Given the description of an element on the screen output the (x, y) to click on. 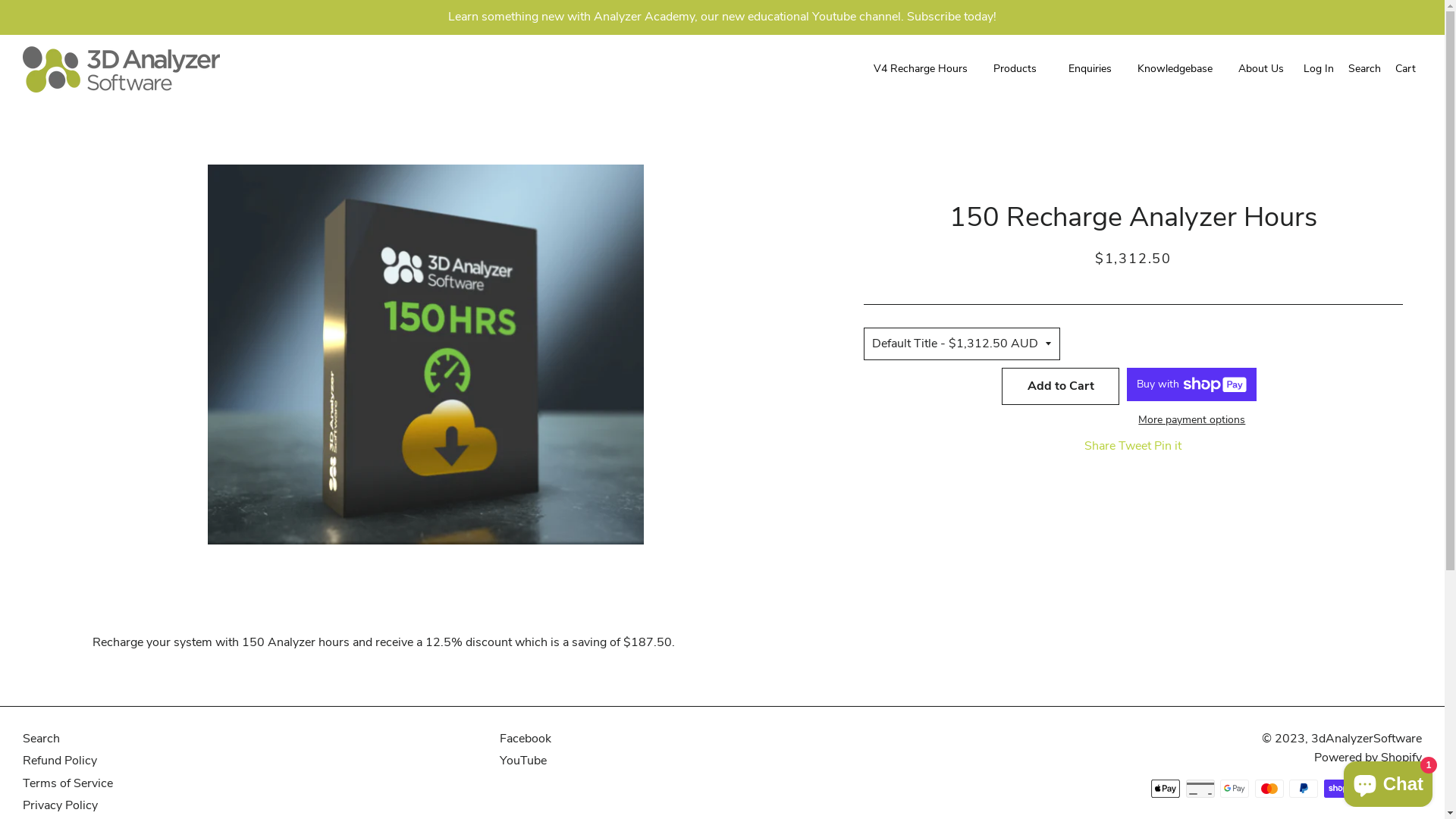
Products Element type: text (1018, 68)
Log In Element type: text (1318, 68)
Search Element type: text (1364, 68)
Enquiries Element type: text (1090, 68)
Powered by Shopify Element type: text (1367, 757)
Shopify online store chat Element type: hover (1388, 780)
More payment options Element type: text (1191, 419)
Knowledgebase Element type: text (1174, 68)
Facebook Element type: text (523, 738)
Search Element type: text (40, 738)
3dAnalyzerSoftware Element type: text (1366, 738)
About Us Element type: text (1260, 68)
YouTube Element type: text (521, 760)
Tweet
Tweet on Twitter Element type: text (1136, 445)
Share
Share on Facebook Element type: text (1101, 445)
Cart Element type: text (1405, 68)
Pin it
Pin on Pinterest Element type: text (1167, 445)
Privacy Policy Element type: text (59, 805)
Refund Policy Element type: text (59, 760)
V4 Recharge Hours Element type: text (920, 68)
Add to Cart Element type: text (1060, 385)
Terms of Service Element type: text (67, 783)
